Given the description of an element on the screen output the (x, y) to click on. 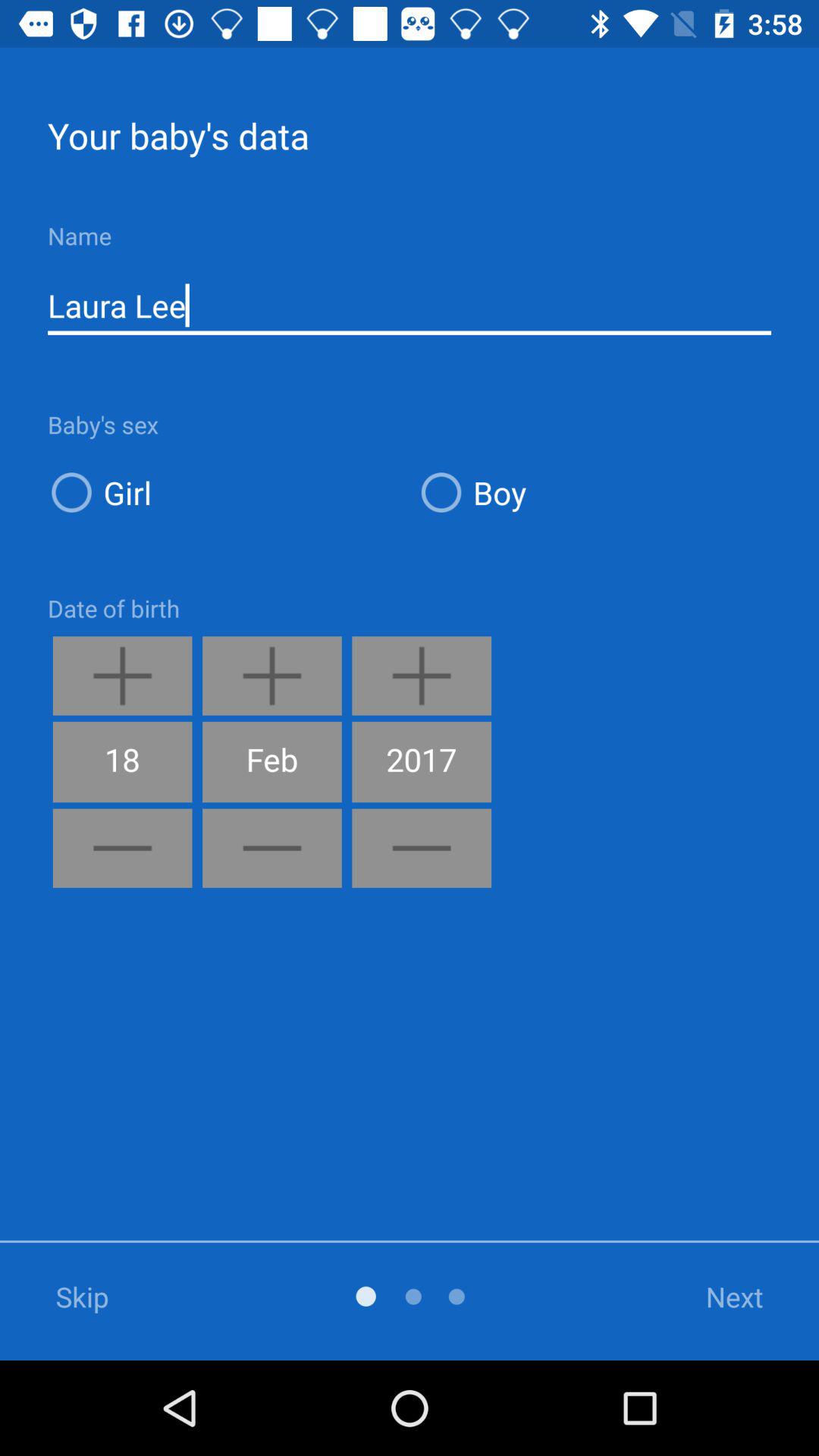
choose the laura lee item (409, 305)
